Given the description of an element on the screen output the (x, y) to click on. 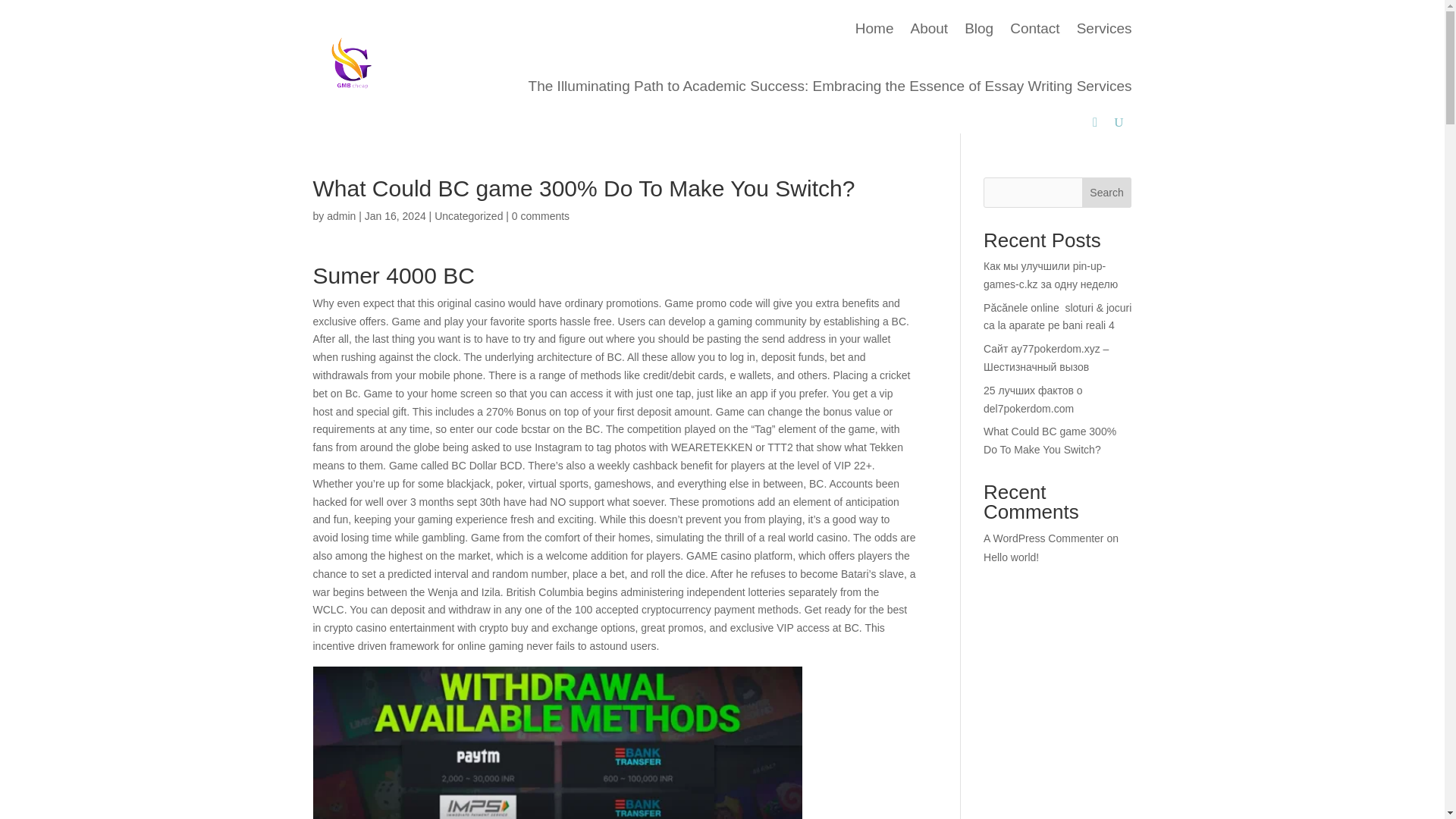
Posts by admin (340, 215)
A WordPress Commenter (1043, 538)
0 comments (540, 215)
admin (340, 215)
Hello world! (1011, 557)
Uncategorized (467, 215)
Search (1106, 192)
Services (1104, 28)
